Given the description of an element on the screen output the (x, y) to click on. 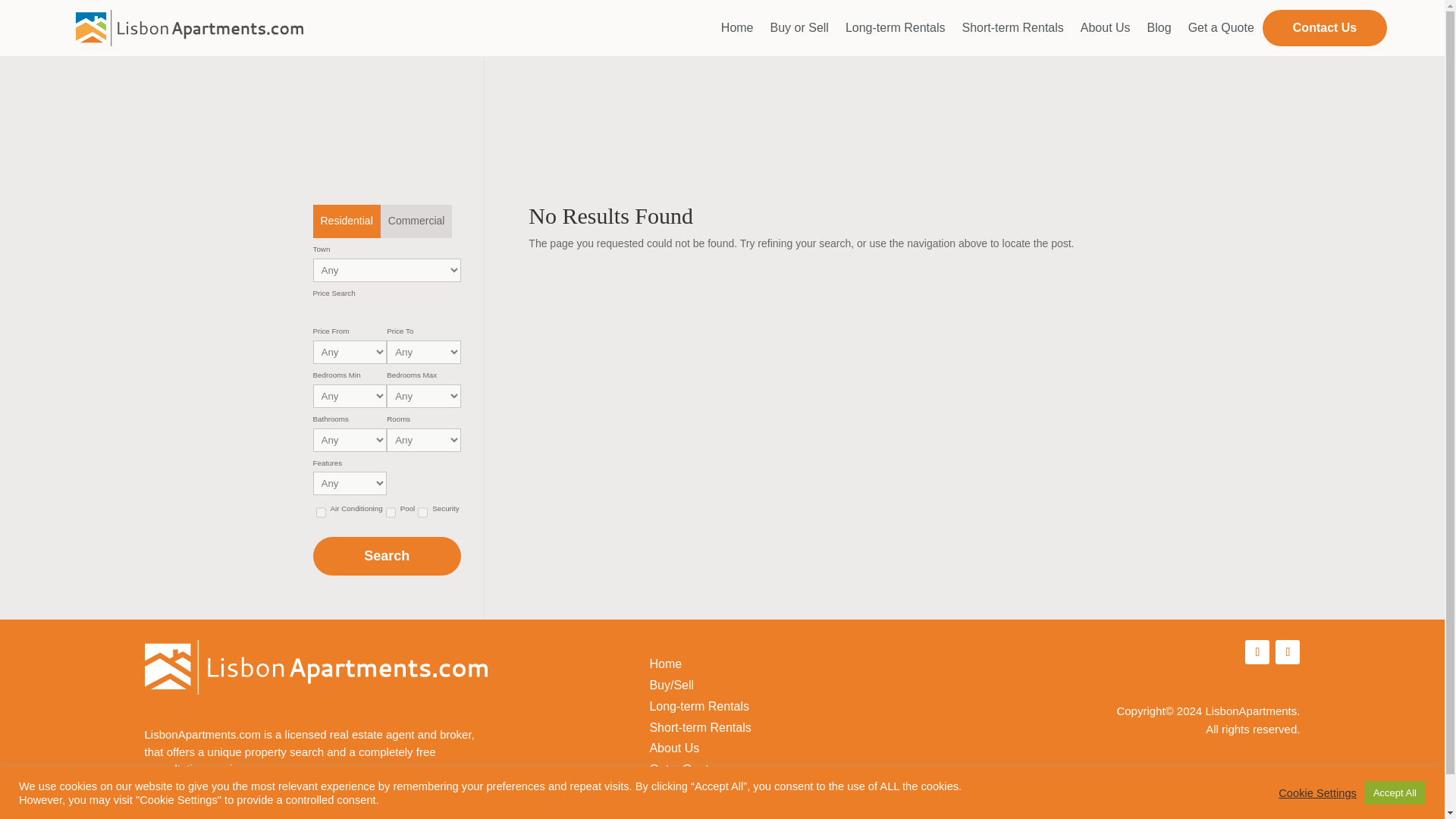
eagle8-logo-new (1248, 806)
Contact Us (1324, 28)
Buy or Sell (799, 27)
Accept All (1394, 792)
Cookie Settings (1317, 792)
Follow on X (1287, 651)
Blog (1159, 27)
Short-term Rentals (1013, 27)
Home (737, 27)
Search (386, 556)
Get a Quote (1220, 27)
About Us (1105, 27)
Long-term Rentals (894, 27)
LA-logo-whiteout-final (315, 666)
Follow on Facebook (1256, 651)
